Given the description of an element on the screen output the (x, y) to click on. 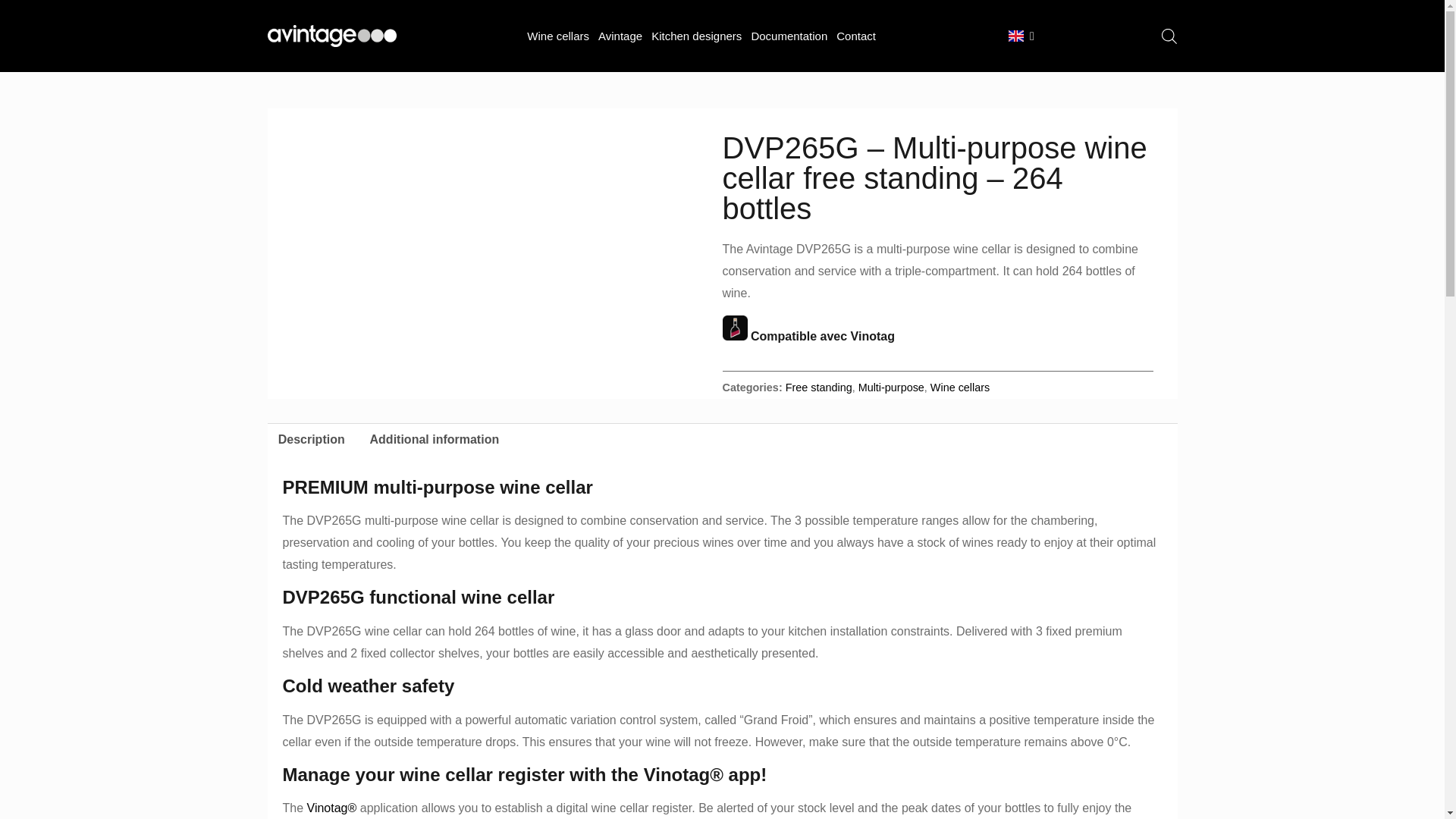
Kitchen designers (695, 36)
Wine cellars (558, 36)
Documentation (788, 36)
